Given the description of an element on the screen output the (x, y) to click on. 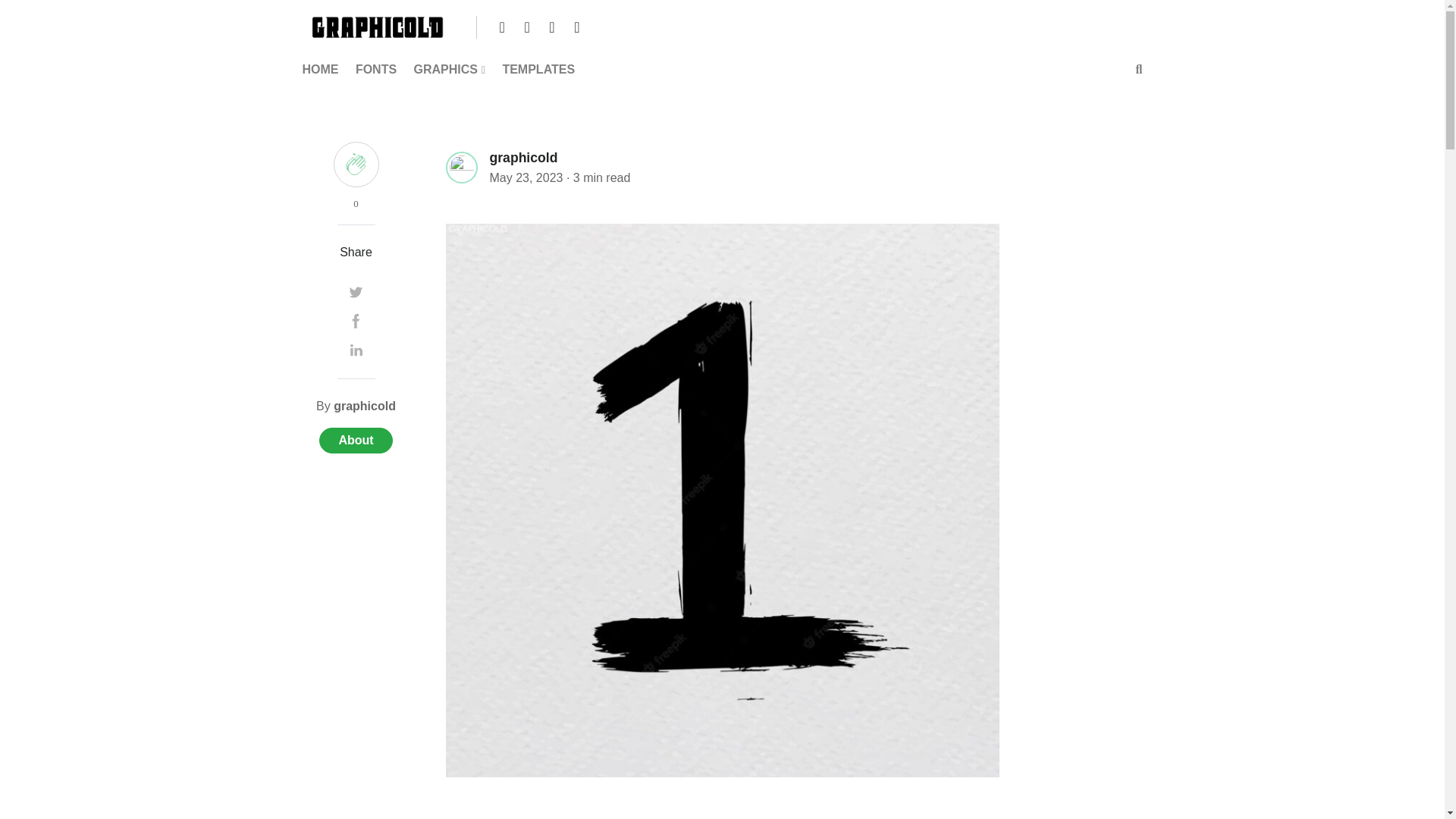
GRAPHICS (448, 69)
Posts by graphicold (364, 405)
Posts by graphicold (523, 157)
graphicold (364, 405)
HOME (323, 69)
TEMPLATES (538, 69)
FONTS (376, 69)
graphicold (523, 155)
About (354, 440)
